Given the description of an element on the screen output the (x, y) to click on. 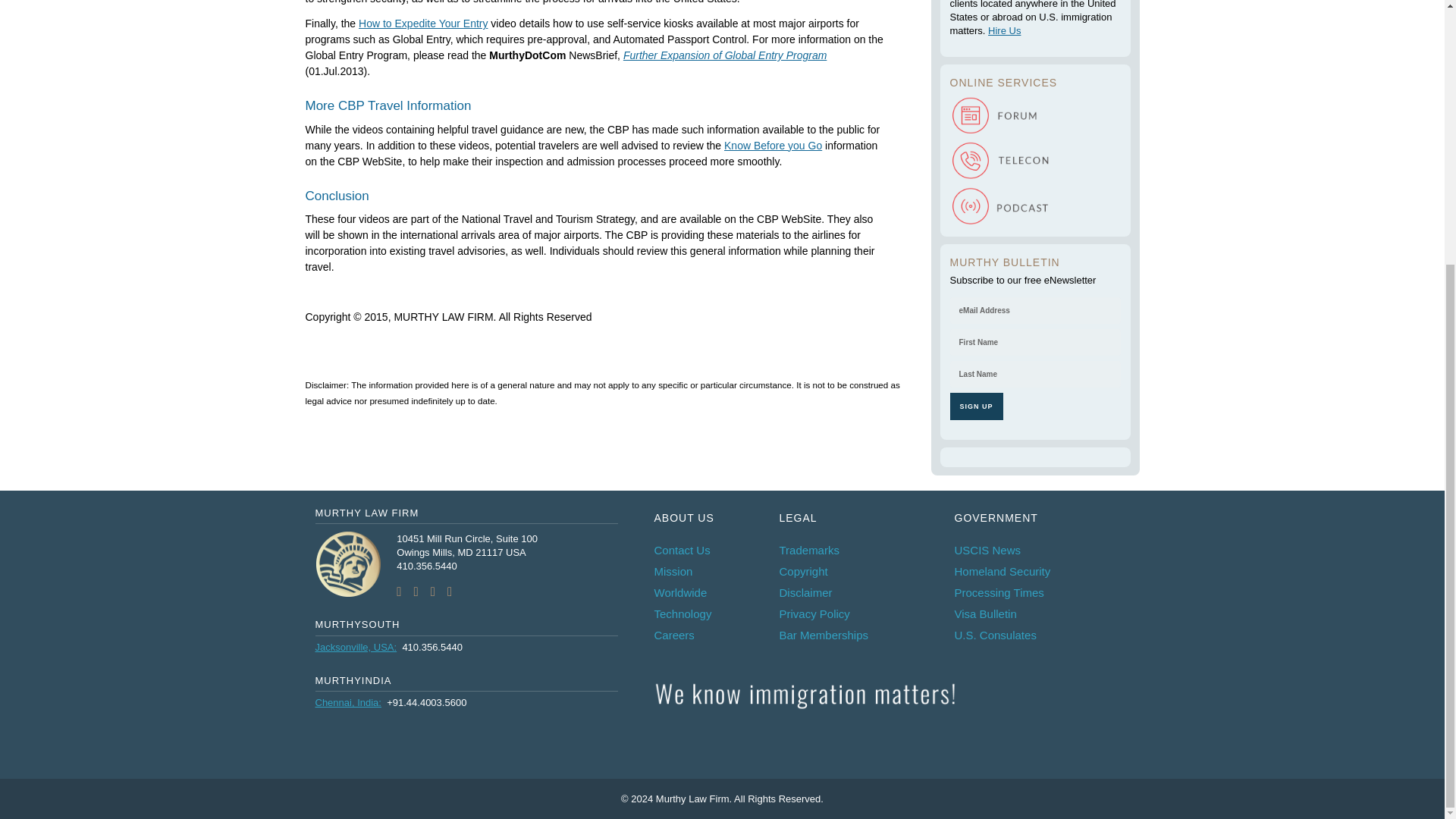
U.S. CBP (772, 145)
Sign up (976, 406)
MurthyDotCom NewsBrief (725, 55)
U.S. CBP video (422, 23)
